Given the description of an element on the screen output the (x, y) to click on. 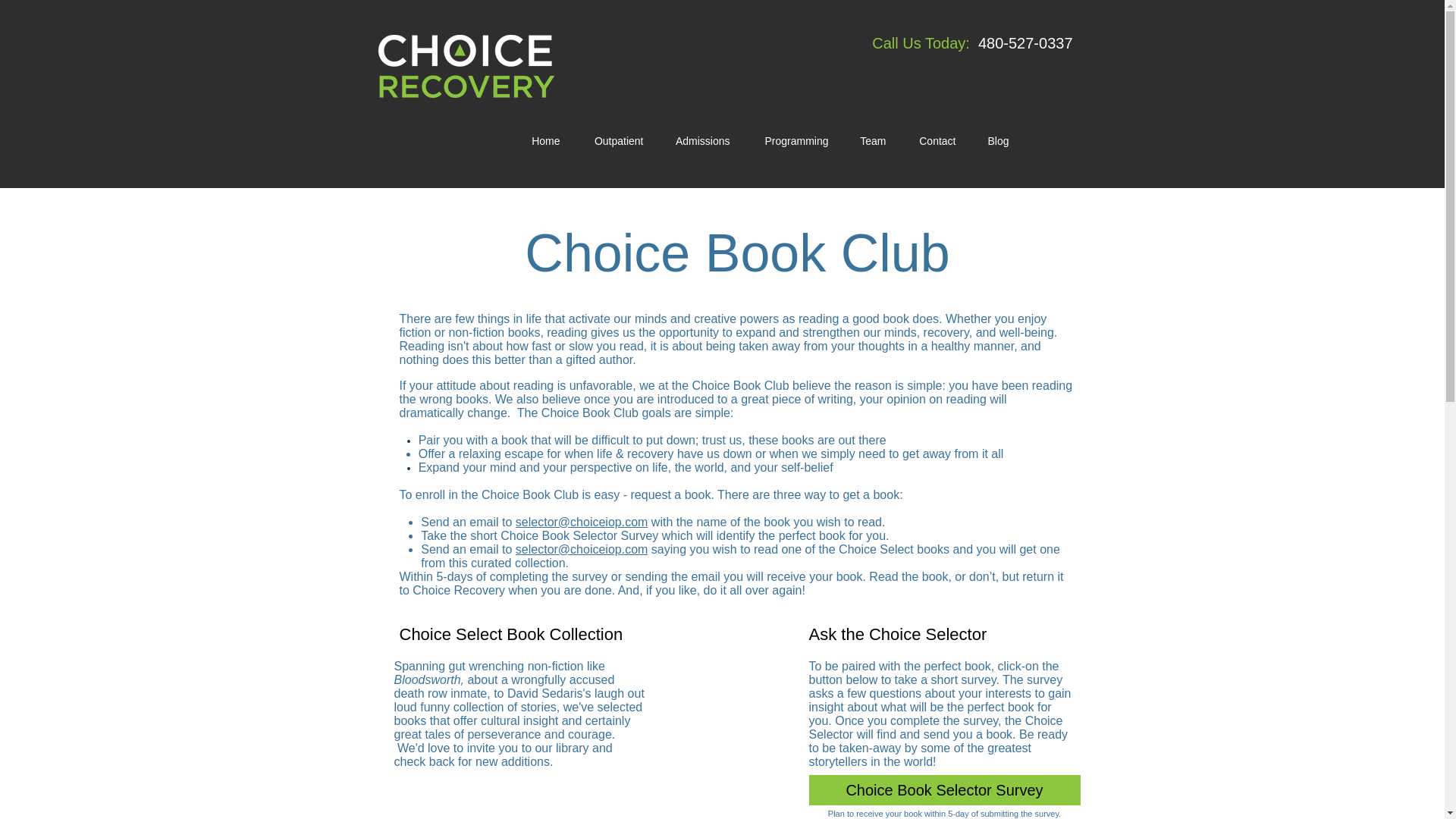
Outpatient (616, 140)
Contact (936, 140)
Home (545, 140)
Admissions (701, 140)
Programming (793, 140)
Call Us Today:  480-527-0337 (971, 43)
Blog (997, 140)
Team (872, 140)
Choice Book Selector Survey (944, 789)
